Given the description of an element on the screen output the (x, y) to click on. 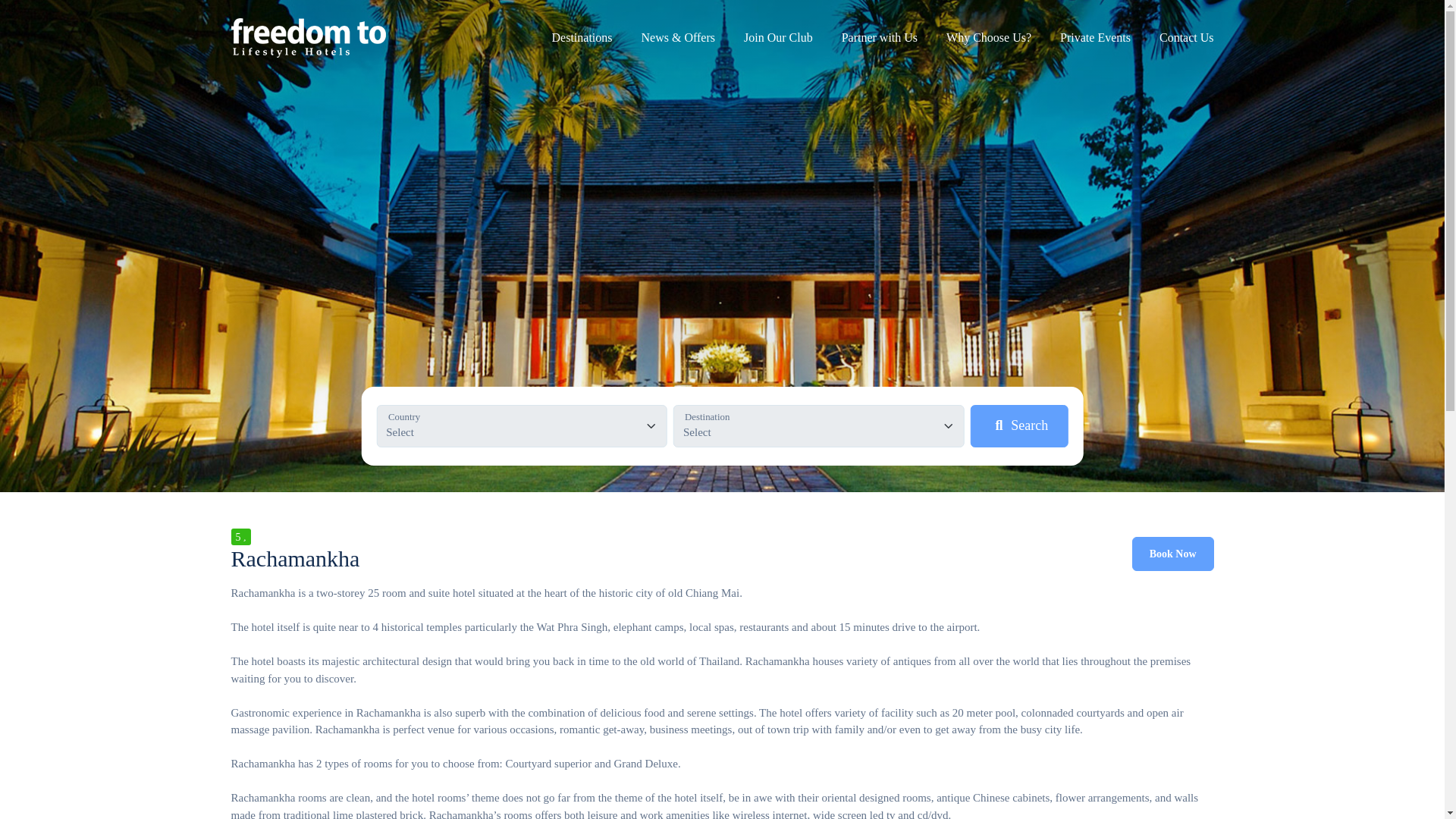
Contact Us (1186, 40)
Book Now (1173, 553)
Search (1019, 425)
Join Our Club (778, 40)
Destinations (581, 40)
Partner with Us (879, 40)
Private Events (1095, 40)
Why Choose Us? (988, 40)
